Given the description of an element on the screen output the (x, y) to click on. 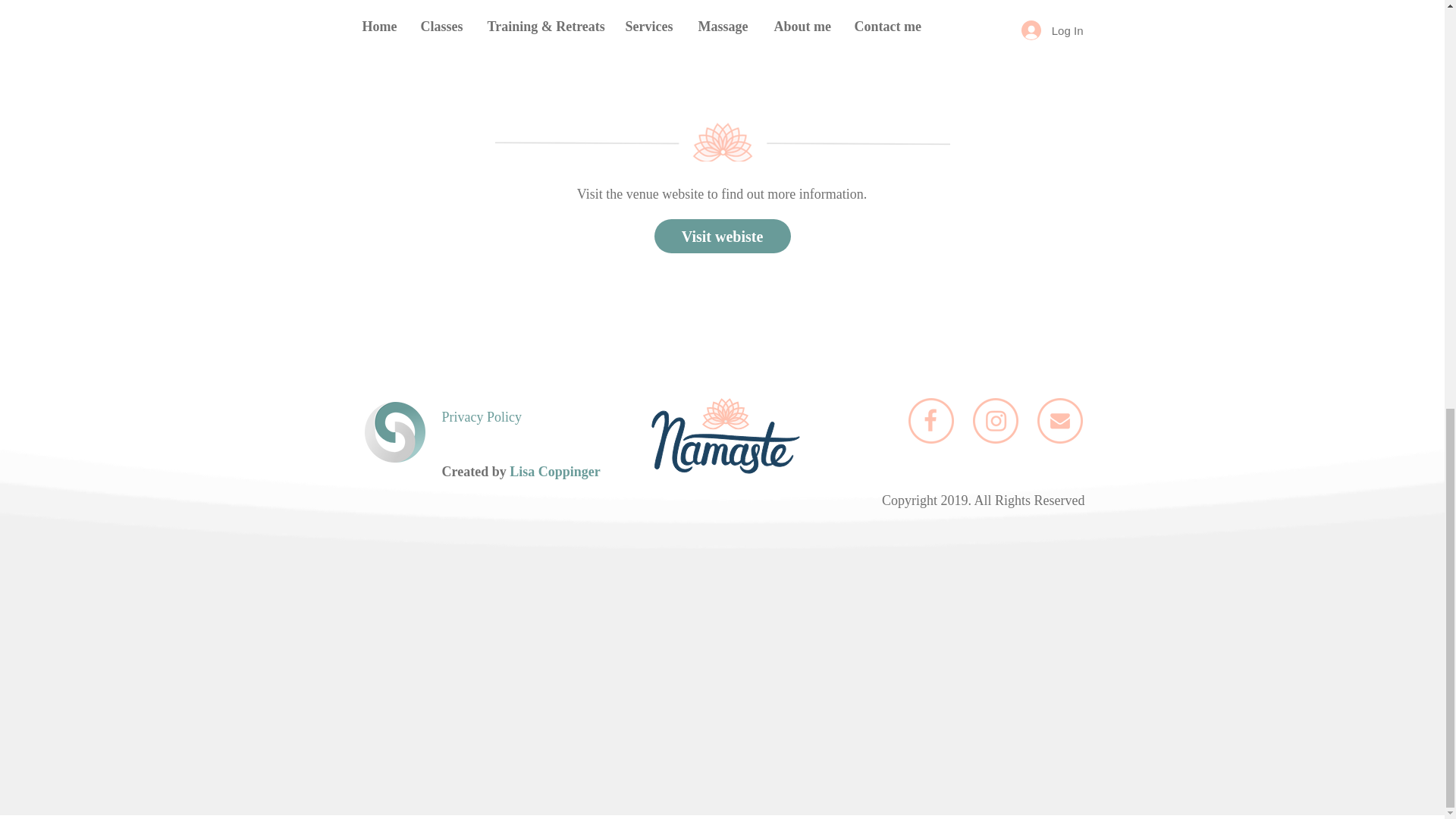
Visit webiste (721, 236)
Privacy Policy (481, 417)
Created by Lisa Coppinger (520, 471)
